Given the description of an element on the screen output the (x, y) to click on. 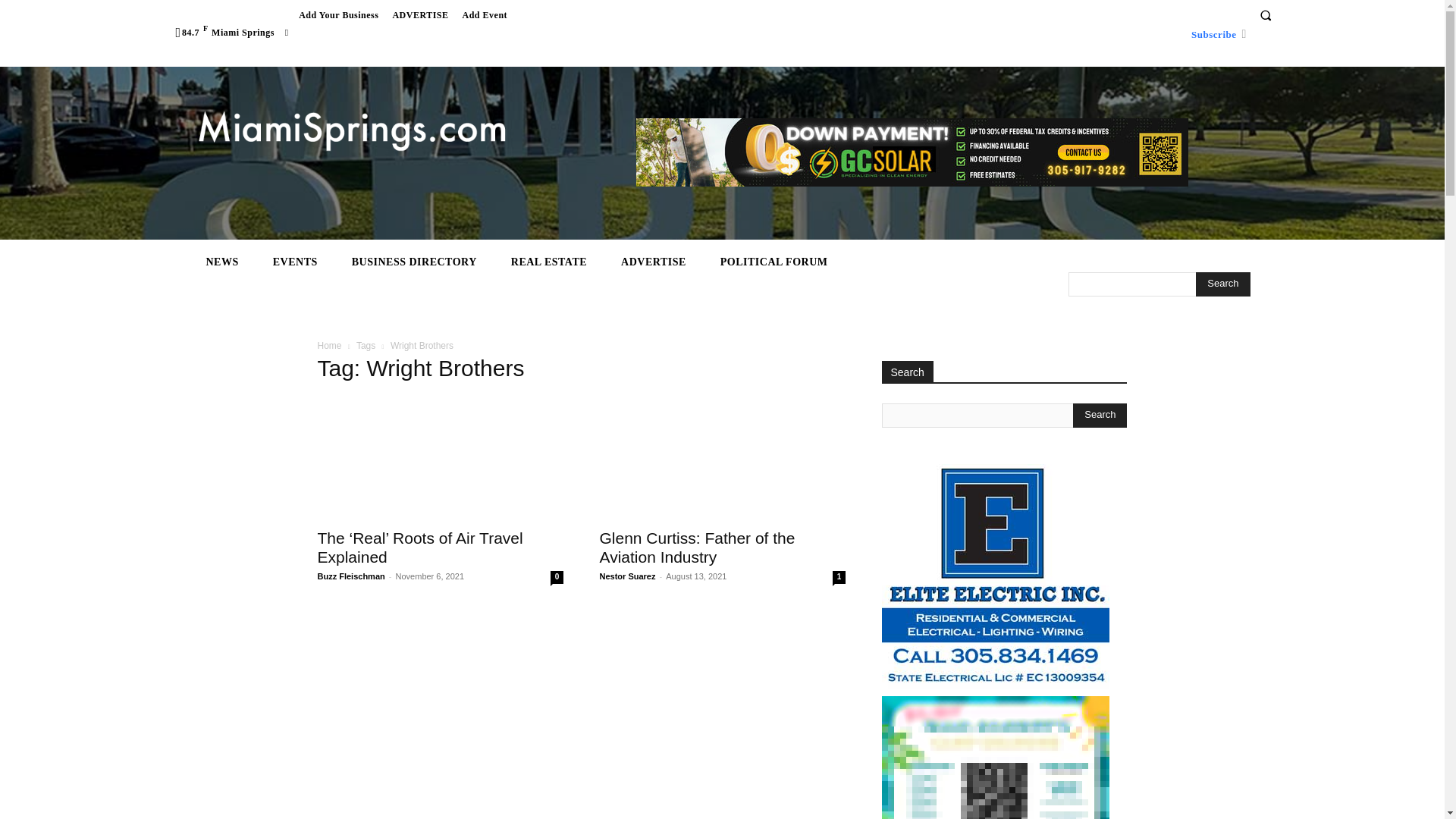
MiamiSprings.com (351, 131)
Search (1099, 415)
Add Your Business (338, 15)
Subscribe (1213, 33)
